Given the description of an element on the screen output the (x, y) to click on. 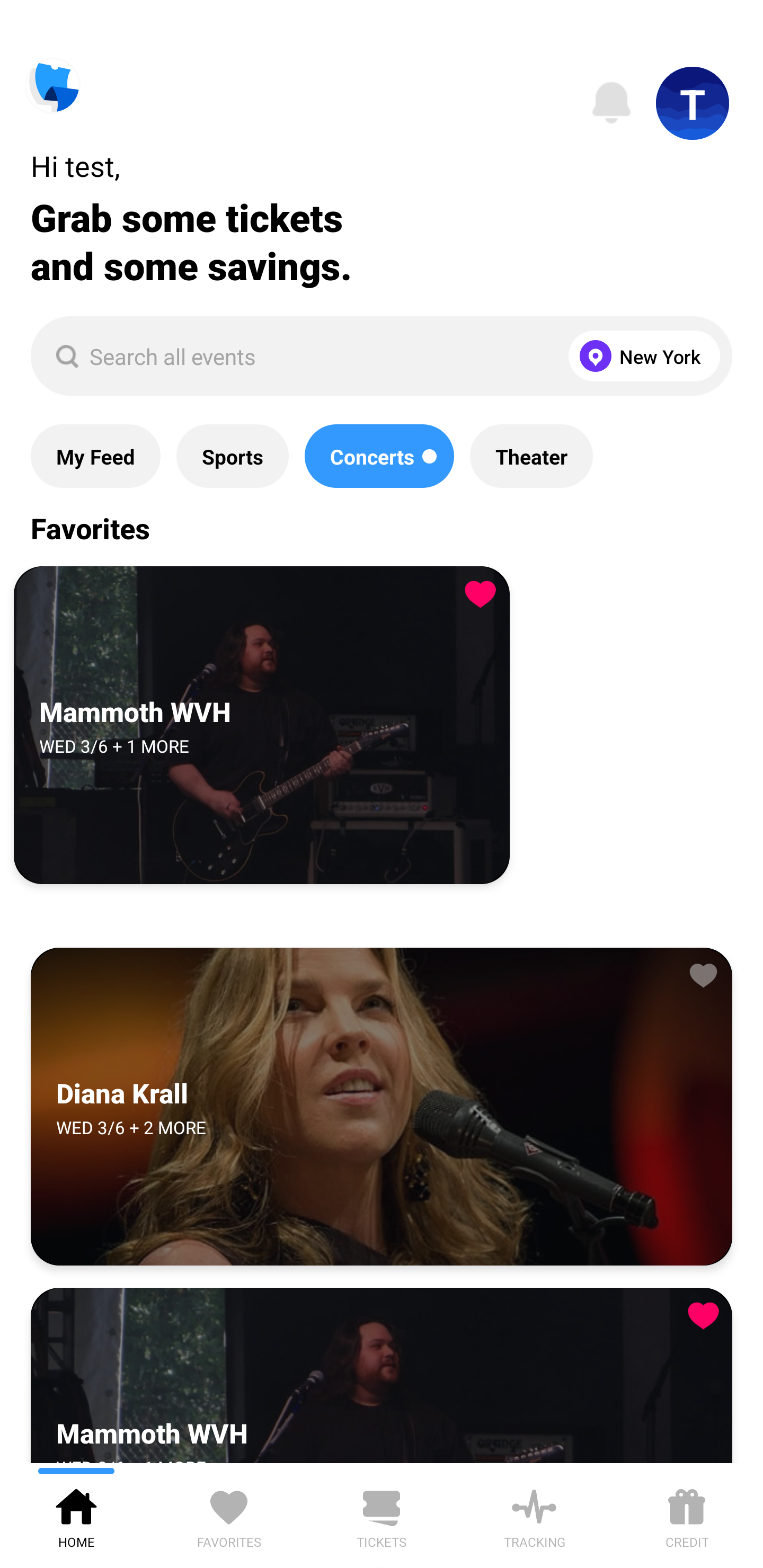
T (692, 103)
New York (640, 355)
My Feed (95, 455)
Sports (232, 455)
Concerts (378, 455)
Theater (531, 455)
HOME (76, 1515)
FAVORITES (228, 1515)
TICKETS (381, 1515)
TRACKING (533, 1515)
CREDIT (686, 1515)
